Given the description of an element on the screen output the (x, y) to click on. 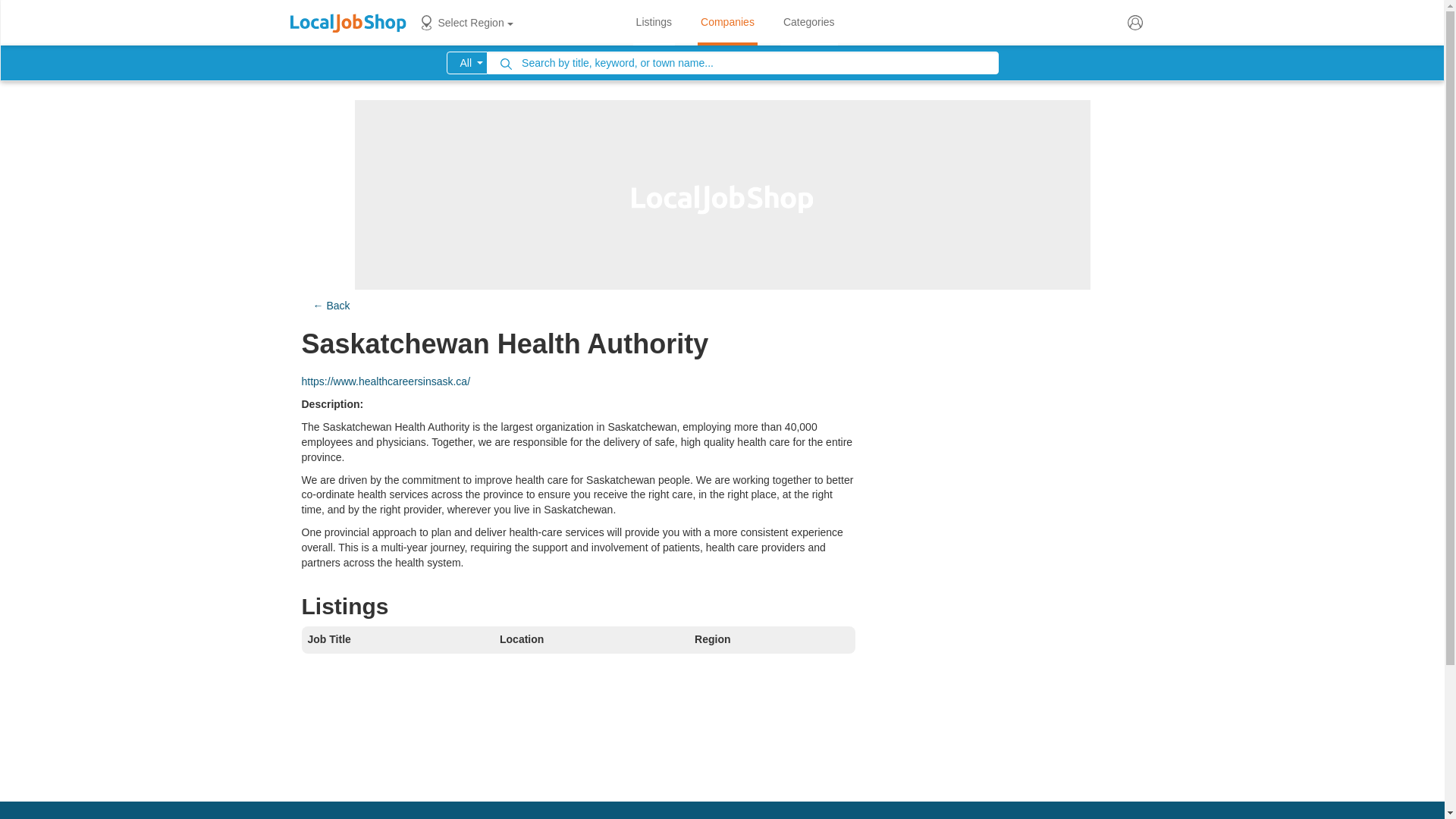
LocalJobShop.ca (347, 22)
Select Region (464, 22)
